Given the description of an element on the screen output the (x, y) to click on. 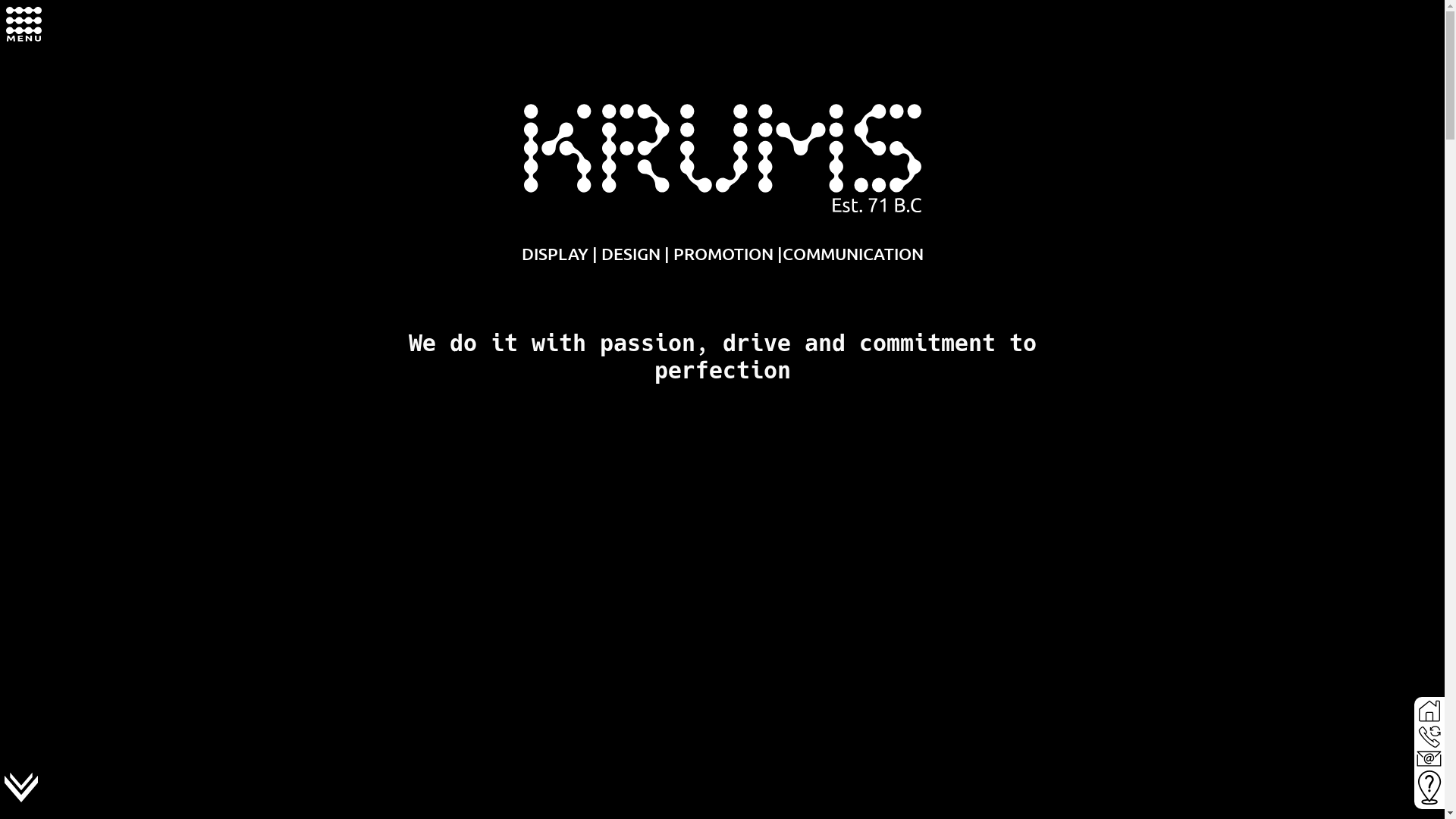
SEND EMAIL TO KRUMS ABOUT EXHITE Element type: hover (1428, 758)
ENQUIRES ABOUT EXHITE BY KRUMS Element type: hover (1429, 787)
RETURN TO HOME PAGE EXHITE Element type: hover (1429, 710)
